Given the description of an element on the screen output the (x, y) to click on. 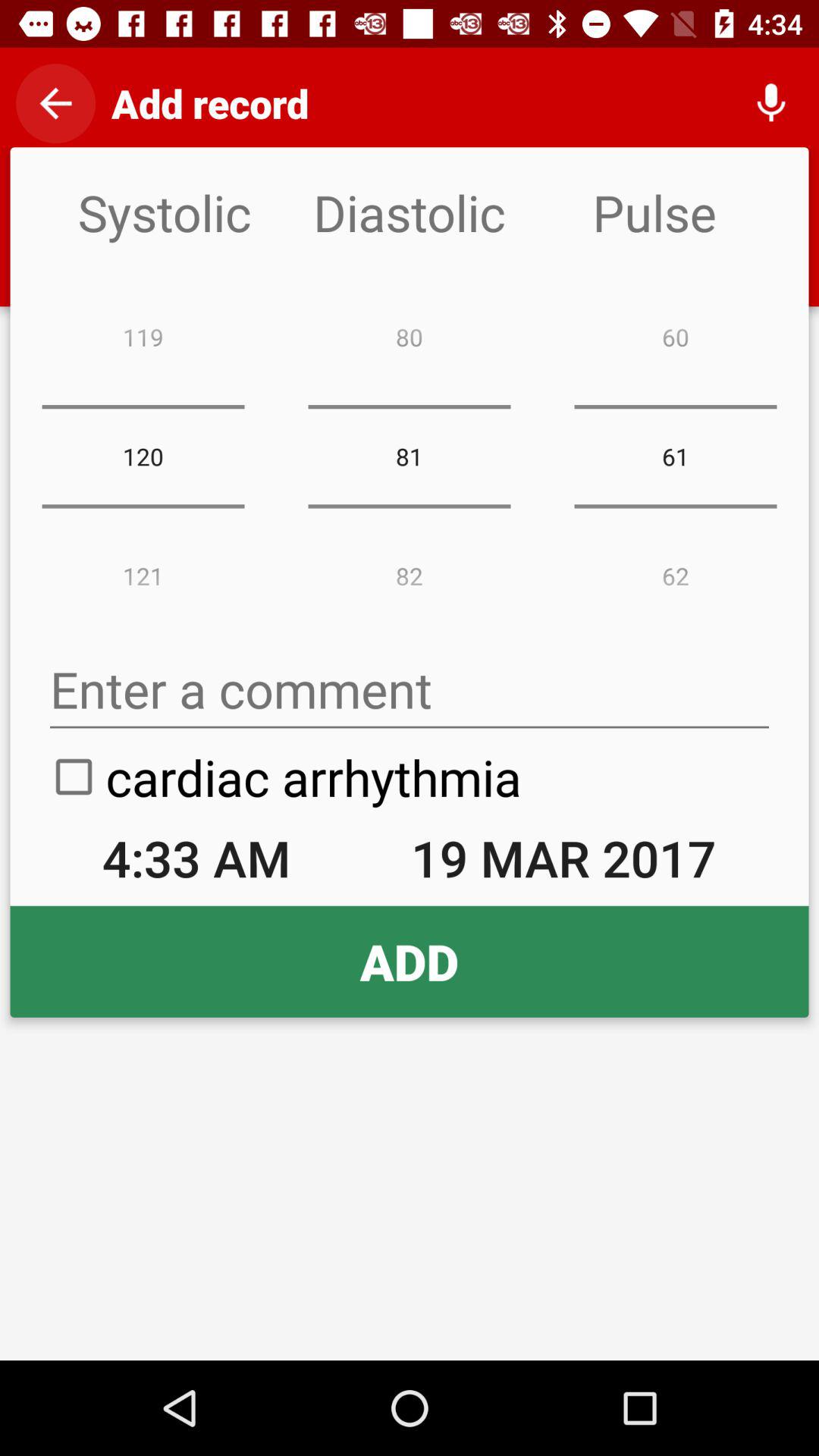
enter a comment (409, 689)
